Given the description of an element on the screen output the (x, y) to click on. 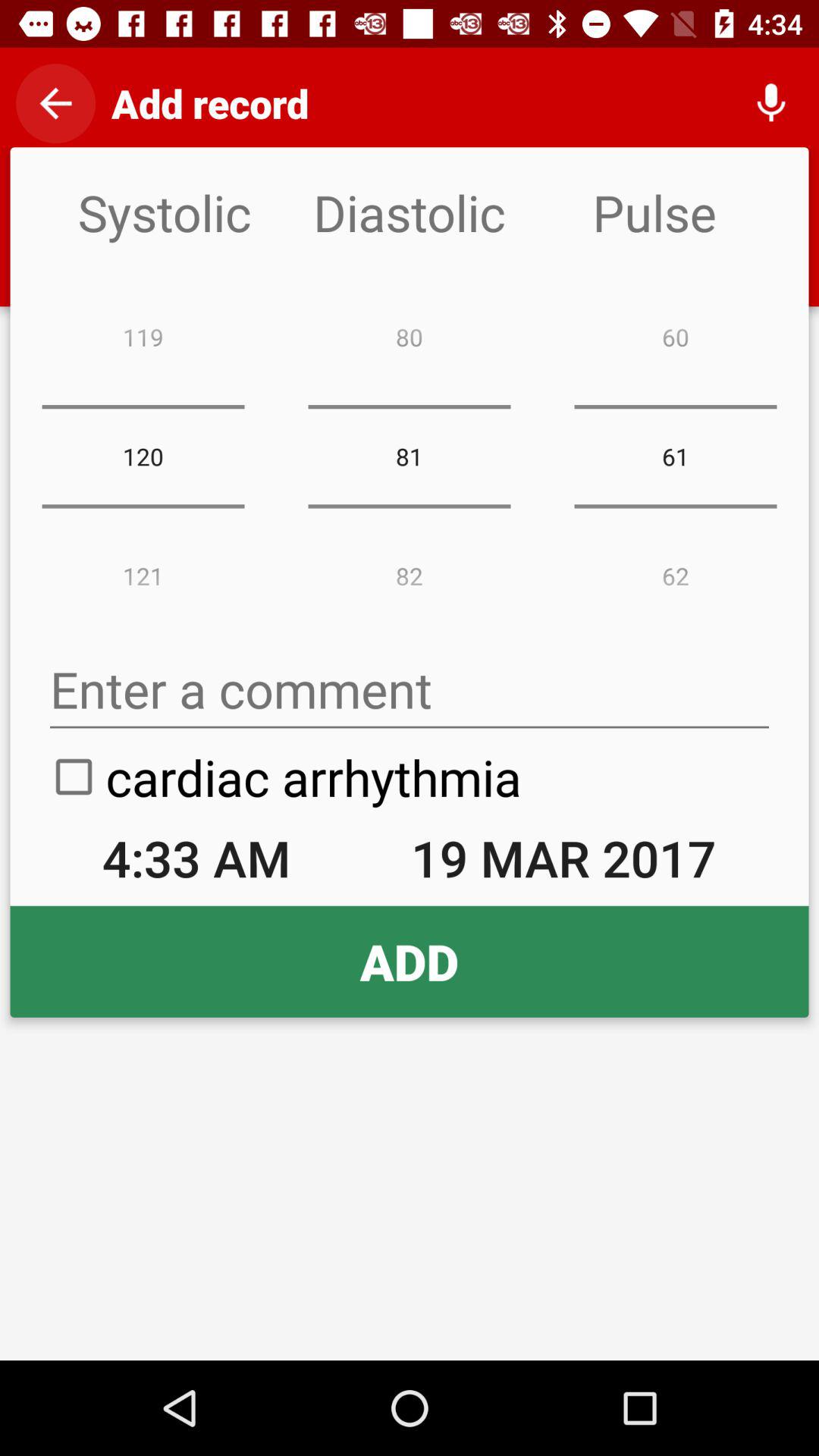
enter a comment (409, 689)
